Given the description of an element on the screen output the (x, y) to click on. 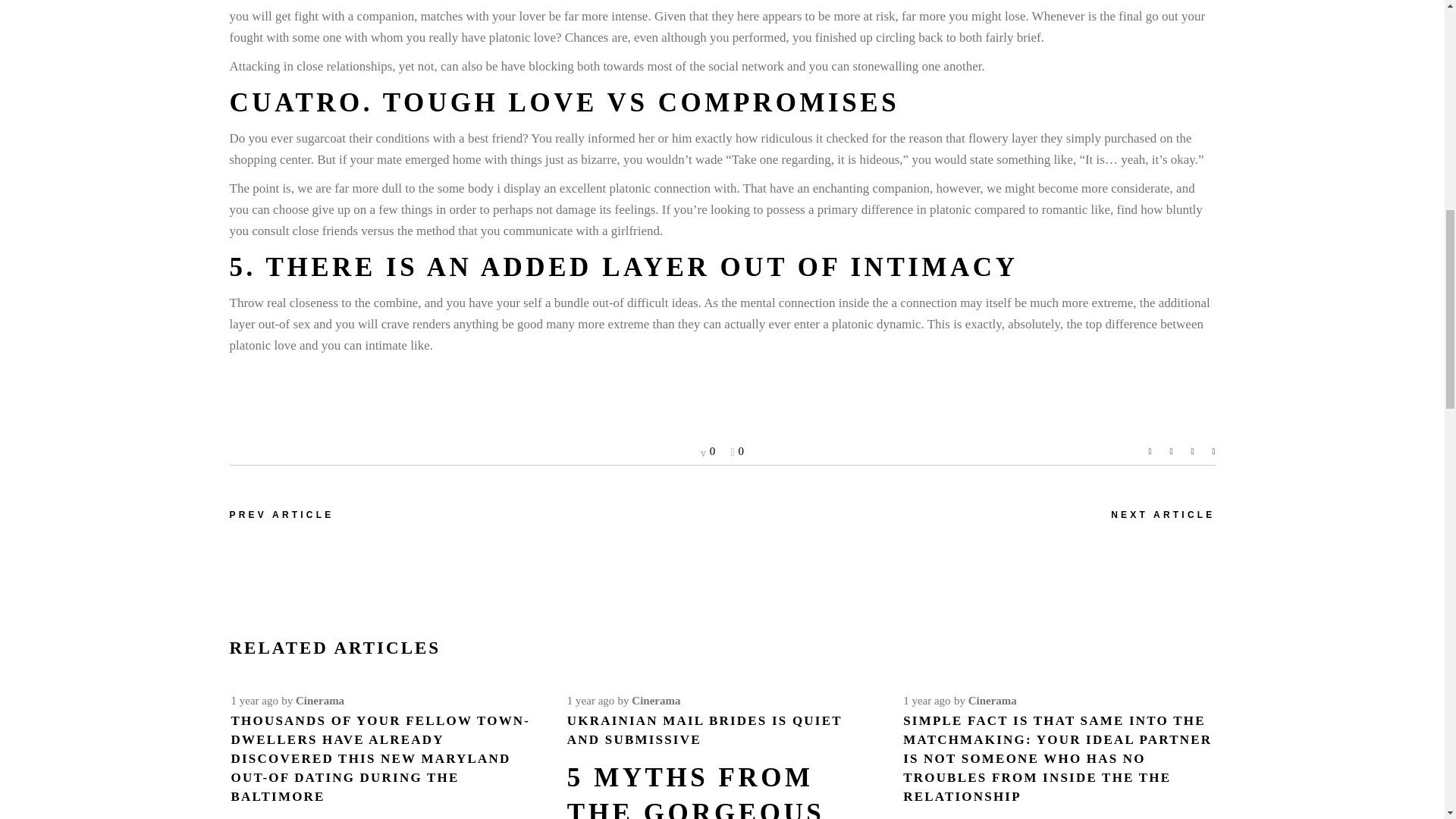
PREV ARTICLE (280, 515)
UKRAINIAN MAIL BRIDES IS QUIET AND SUBMISSIVE (705, 729)
Ukrainian mail brides is quiet and submissive (705, 729)
NEXT ARTICLE (1162, 515)
Like this (737, 451)
0 (737, 451)
Cinerama (319, 700)
Cinerama (655, 700)
0 (707, 451)
